Given the description of an element on the screen output the (x, y) to click on. 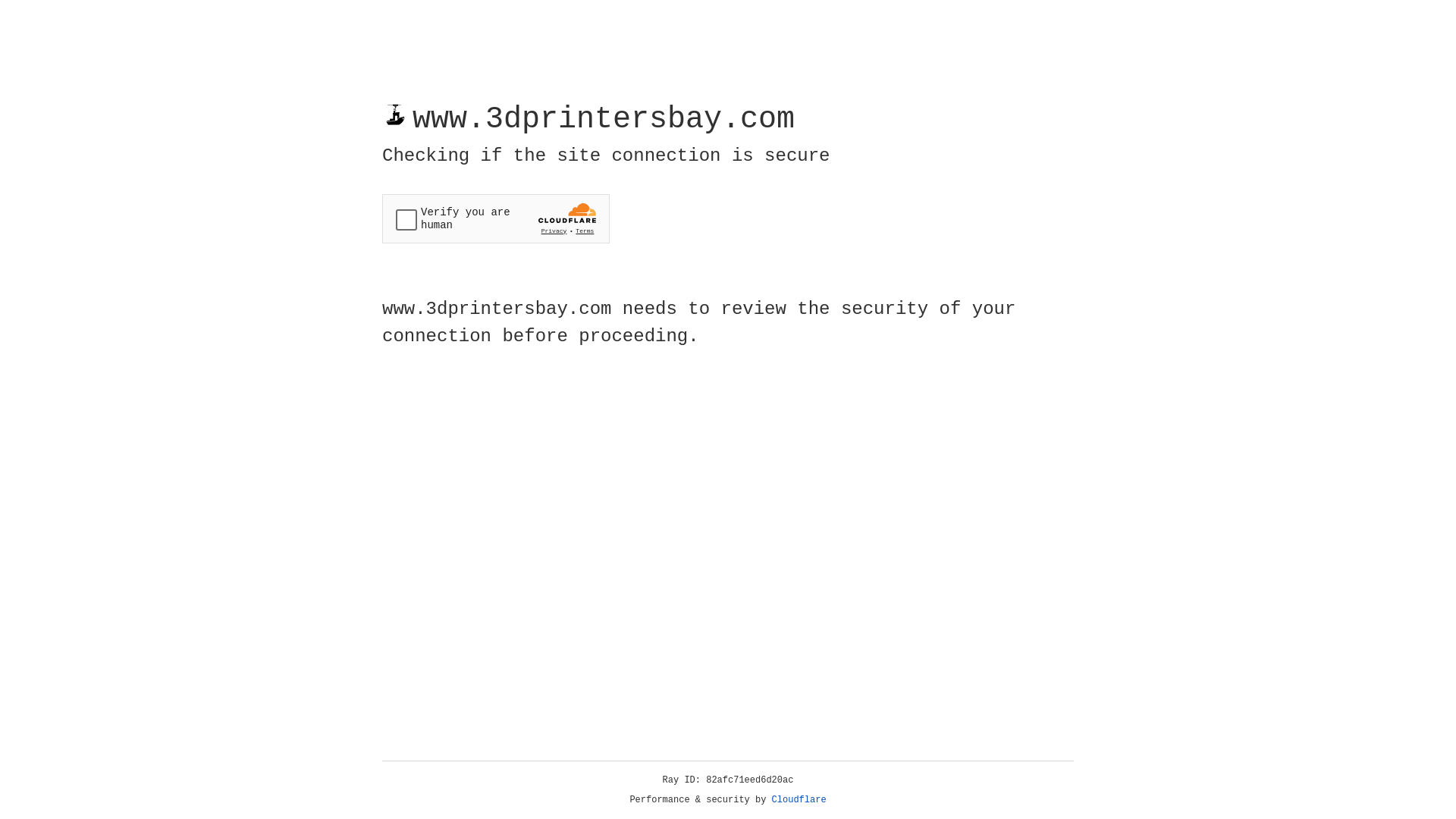
Widget containing a Cloudflare security challenge Element type: hover (495, 218)
Cloudflare Element type: text (798, 799)
